Given the description of an element on the screen output the (x, y) to click on. 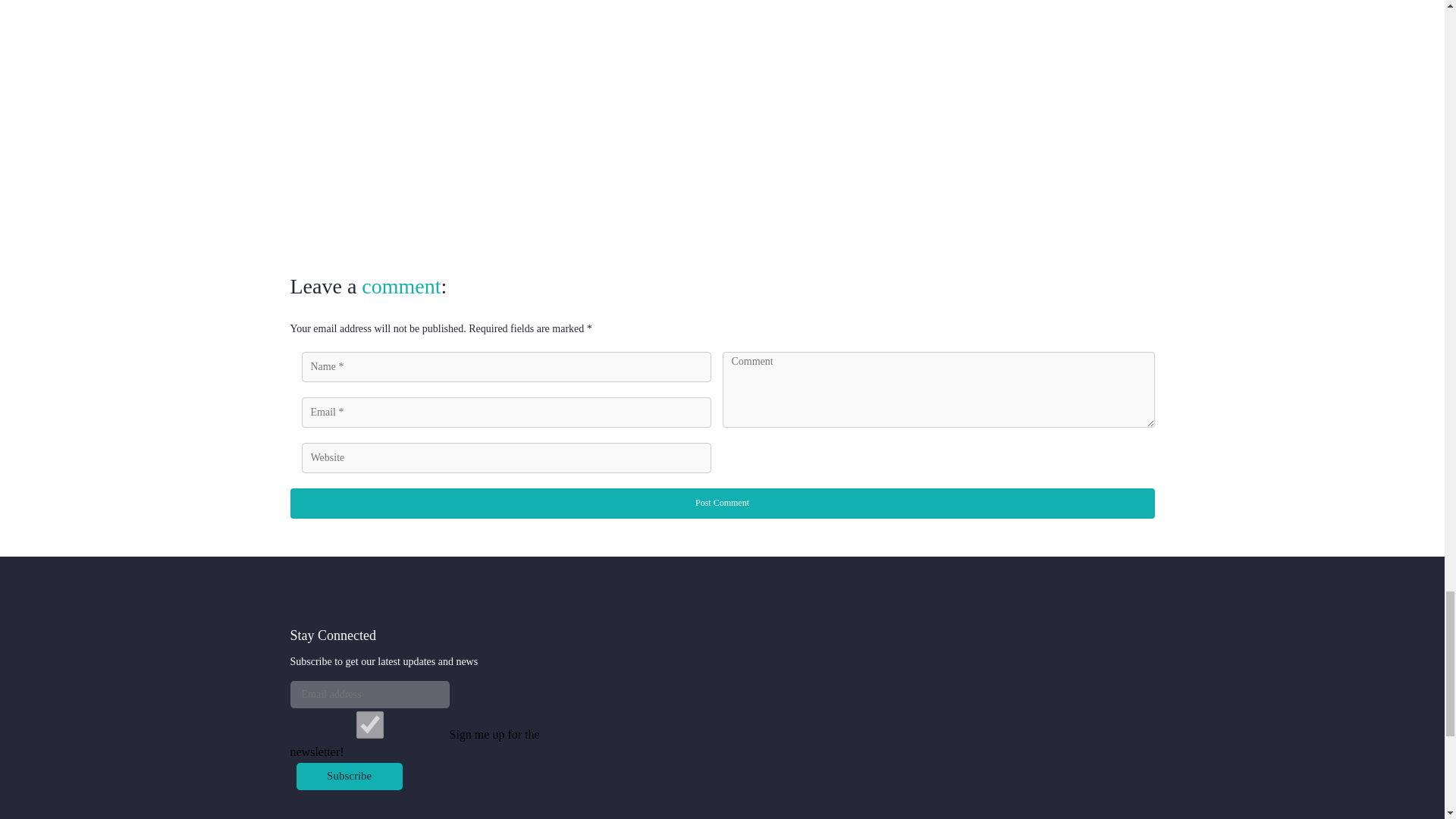
1 (368, 724)
Subscribe (348, 776)
Post Comment (721, 503)
